Given the description of an element on the screen output the (x, y) to click on. 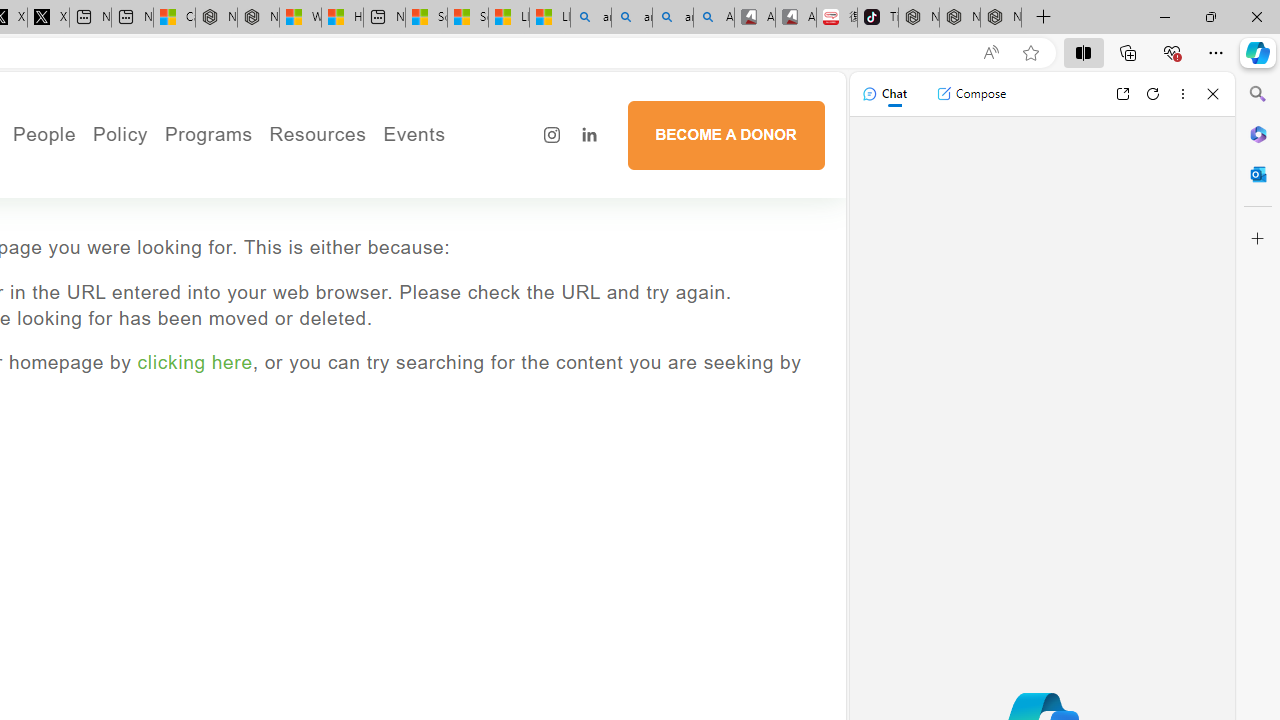
Food Leaders Lab (230, 228)
All Cubot phones (795, 17)
Nordace - Best Sellers (918, 17)
Add this page to favorites (Ctrl+D) (1030, 53)
Nordace - Siena Pro 15 Essential Set (1000, 17)
Collections (1128, 52)
clicking here (194, 362)
Split screen (1083, 52)
About (111, 173)
Events (482, 173)
Healthy Markets LA (263, 173)
amazon - Search (631, 17)
LA Foodscapes (482, 200)
Browser essentials (1171, 52)
